Given the description of an element on the screen output the (x, y) to click on. 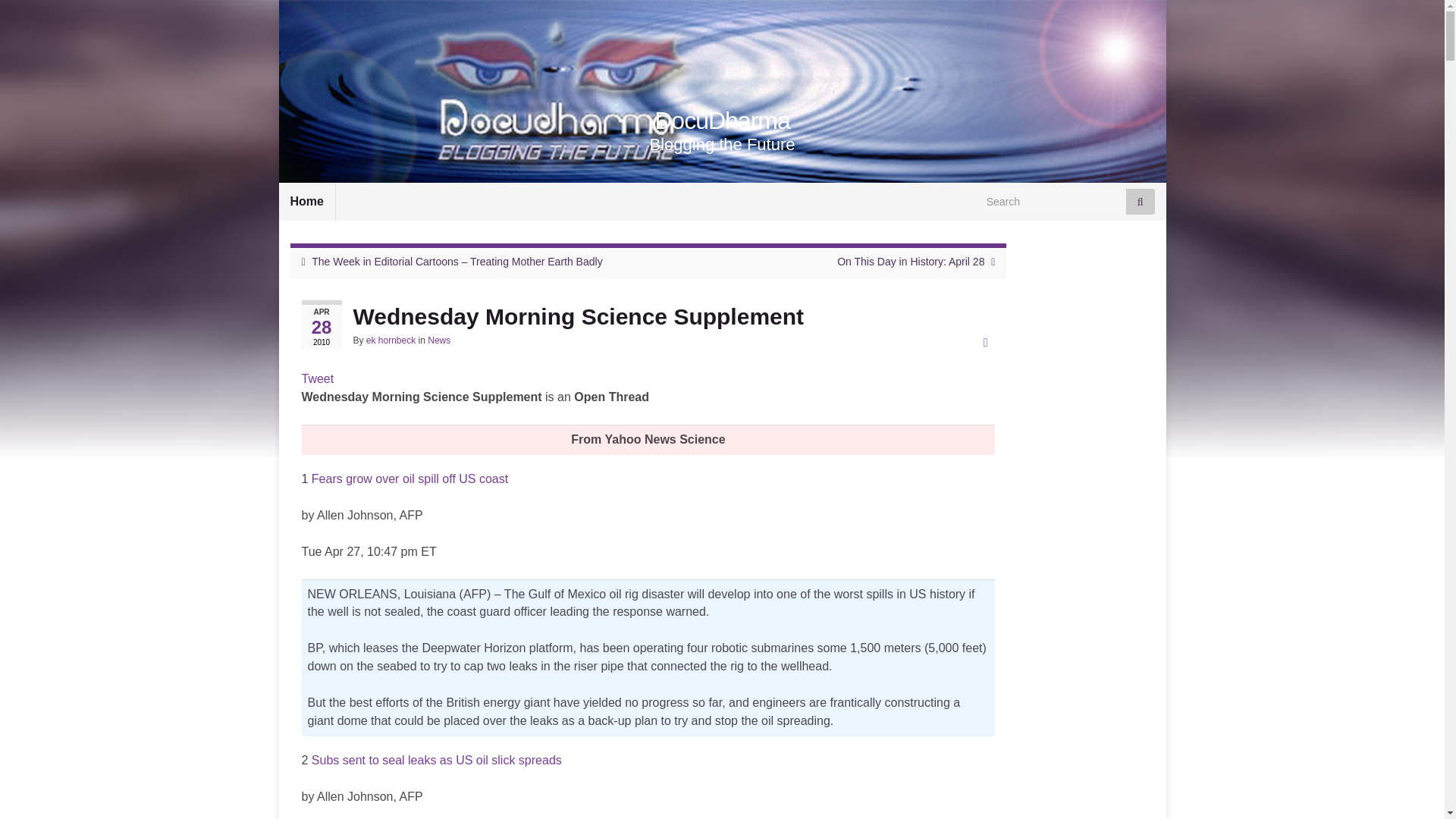
Go back to the front page (721, 120)
ek hornbeck (390, 339)
On This Day in History: April 28 (910, 261)
DocuDharma (721, 120)
Fears grow over oil spill off US coast (409, 478)
Subs sent to seal leaks as US oil slick spreads (436, 759)
News (438, 339)
Home (306, 201)
Tweet (317, 378)
